Given the description of an element on the screen output the (x, y) to click on. 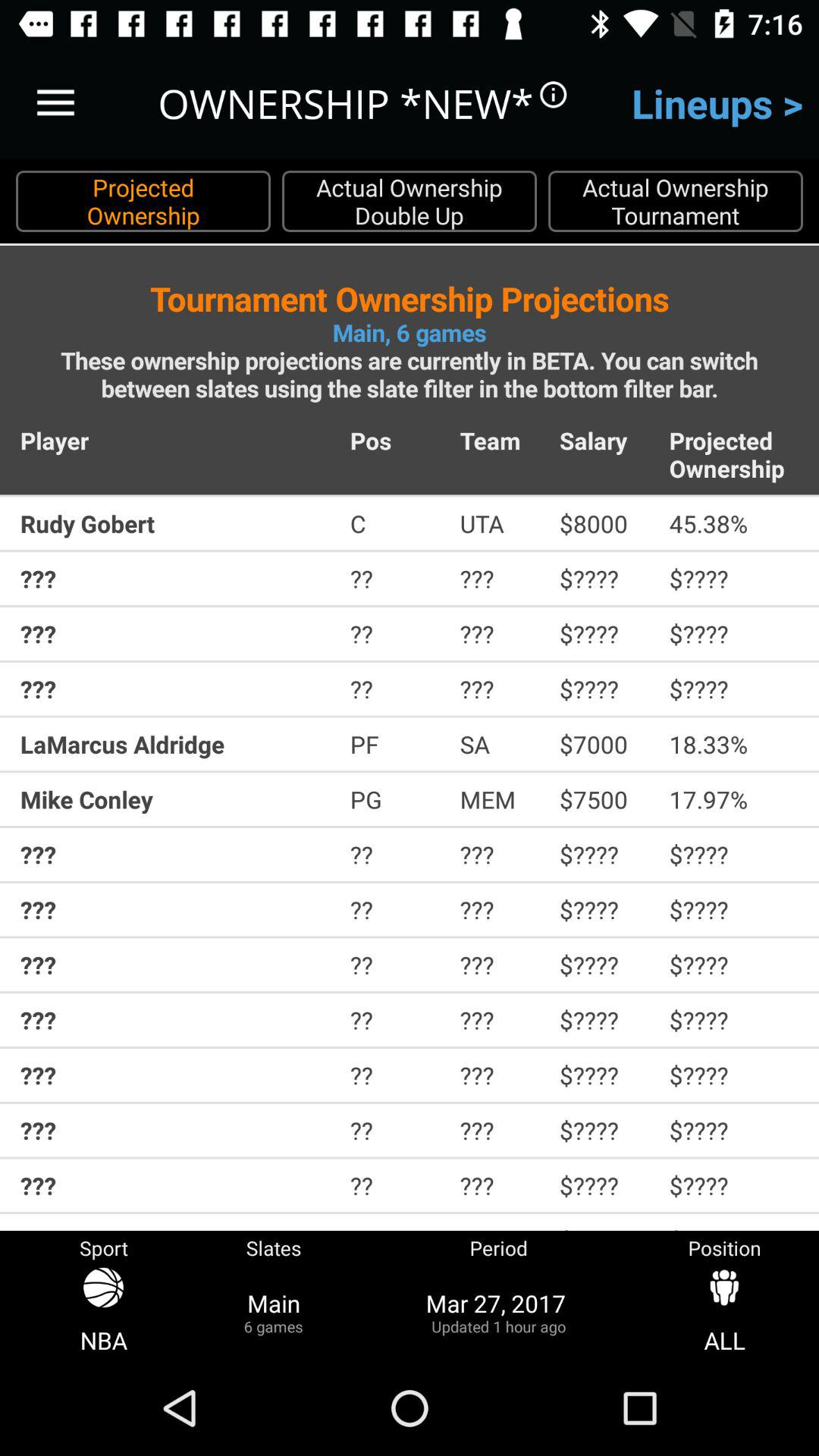
turn on the icon above ??? (394, 523)
